Given the description of an element on the screen output the (x, y) to click on. 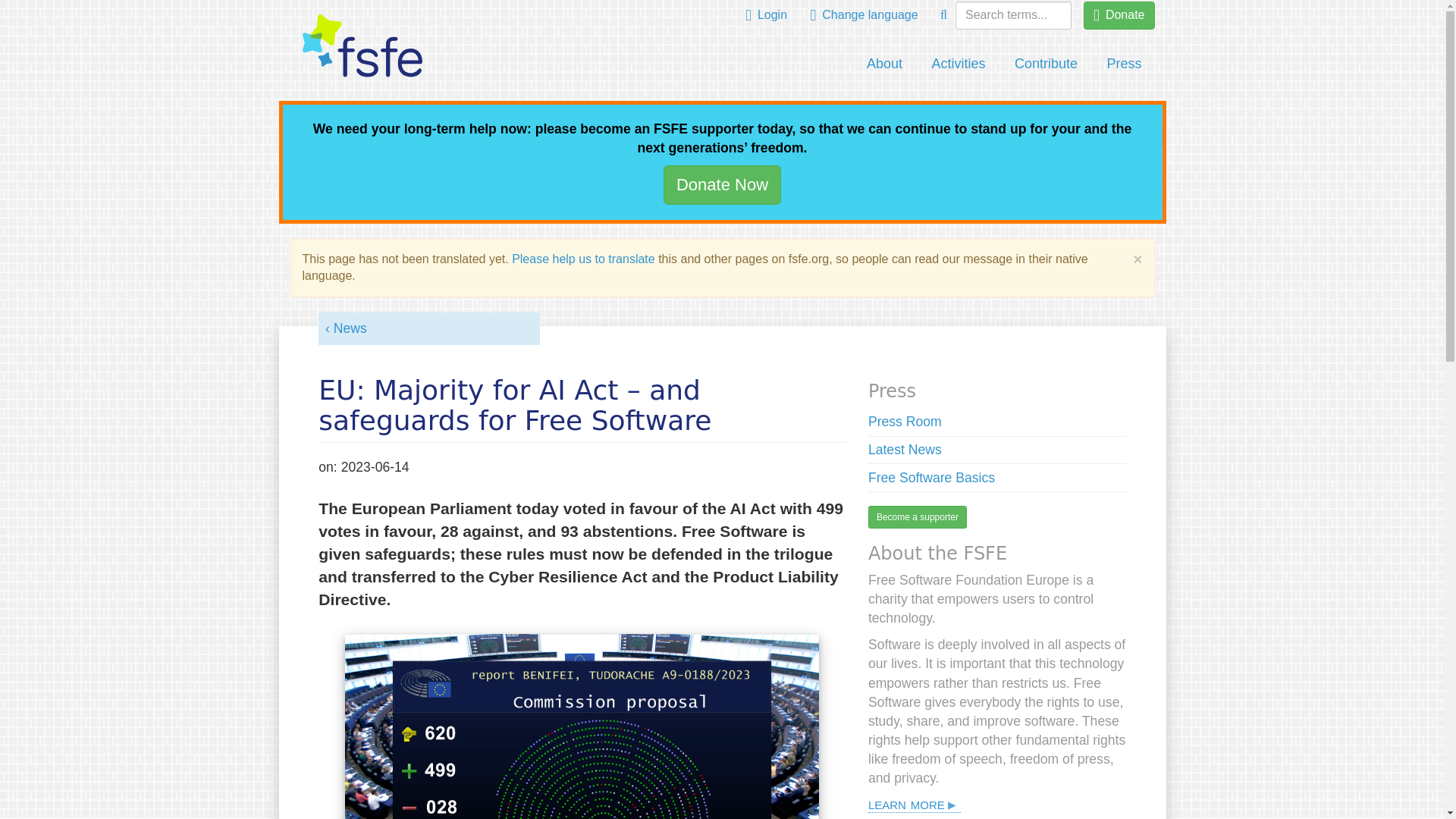
About (884, 63)
Donate (1118, 15)
Donate Now (721, 184)
Press Room (904, 421)
Free Software Basics (930, 477)
Activities (958, 63)
Press (1123, 63)
learn more (913, 803)
Contribute (1045, 63)
Change language (864, 15)
Login (765, 15)
Please help us to translate (583, 257)
News (345, 328)
Become a supporter (916, 517)
Latest News (904, 449)
